Given the description of an element on the screen output the (x, y) to click on. 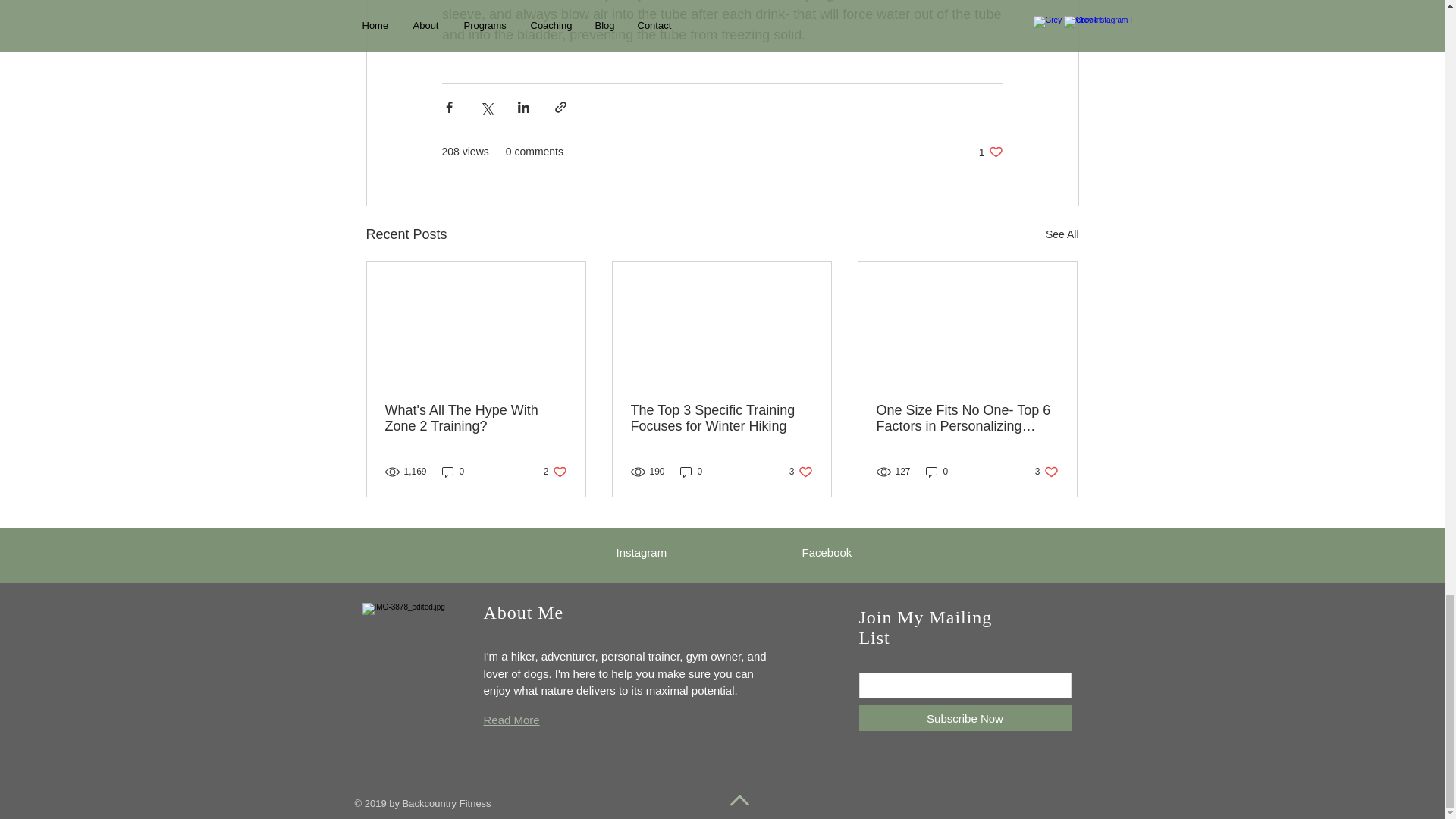
What's All The Hype With Zone 2 Training? (1046, 472)
0 (476, 418)
0 (453, 472)
Read More (937, 472)
Instagram (511, 719)
Facebook (640, 552)
